Given the description of an element on the screen output the (x, y) to click on. 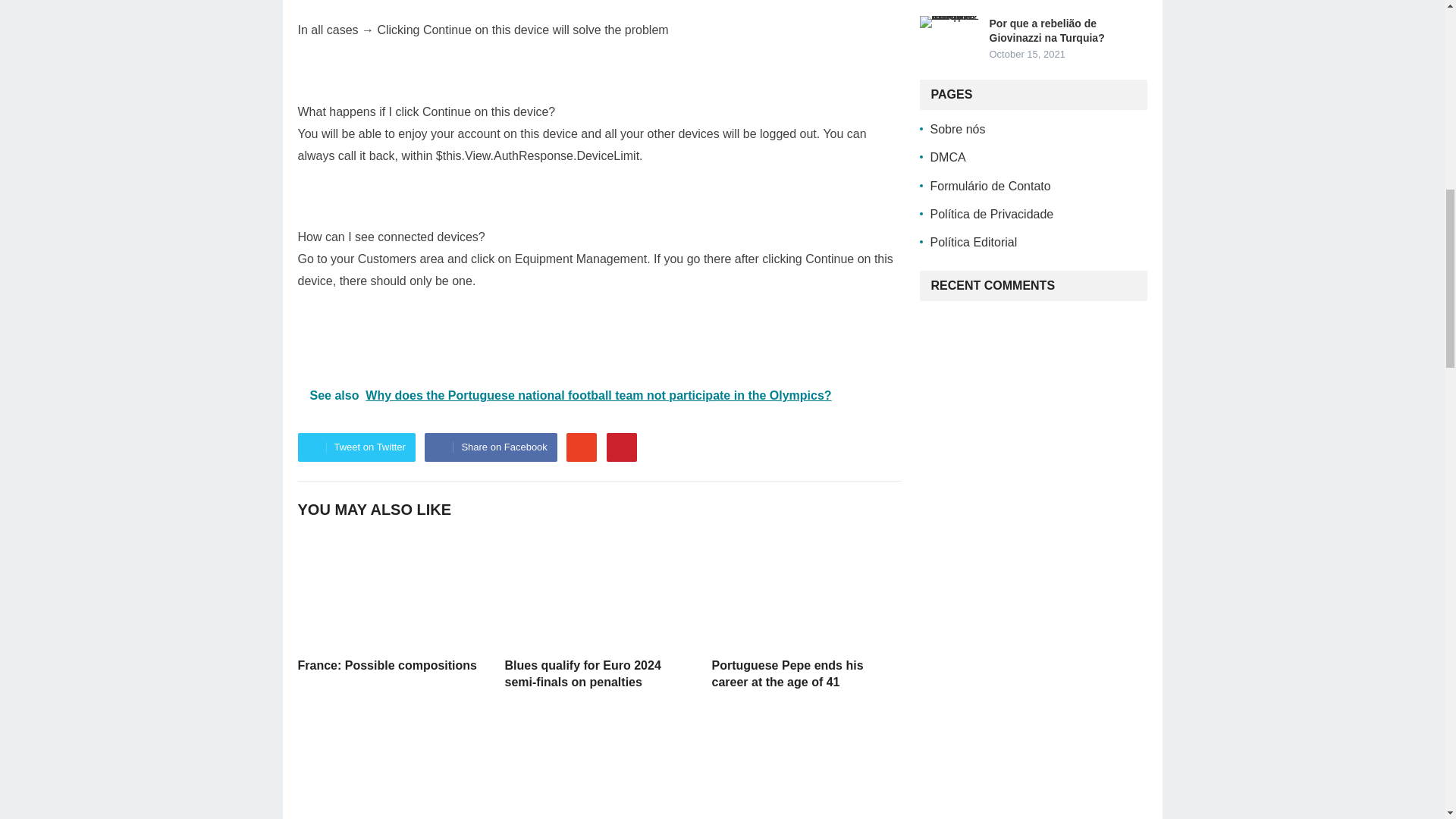
Portuguese Pepe ends his career at the age of 41 (805, 591)
Portugal legend to retire after Euro 2024 (391, 764)
Blues qualify for Euro 2024 semi-finals on penalties (599, 591)
Tweet on Twitter (355, 447)
Share on Facebook (490, 447)
France: Possible compositions (391, 591)
